Given the description of an element on the screen output the (x, y) to click on. 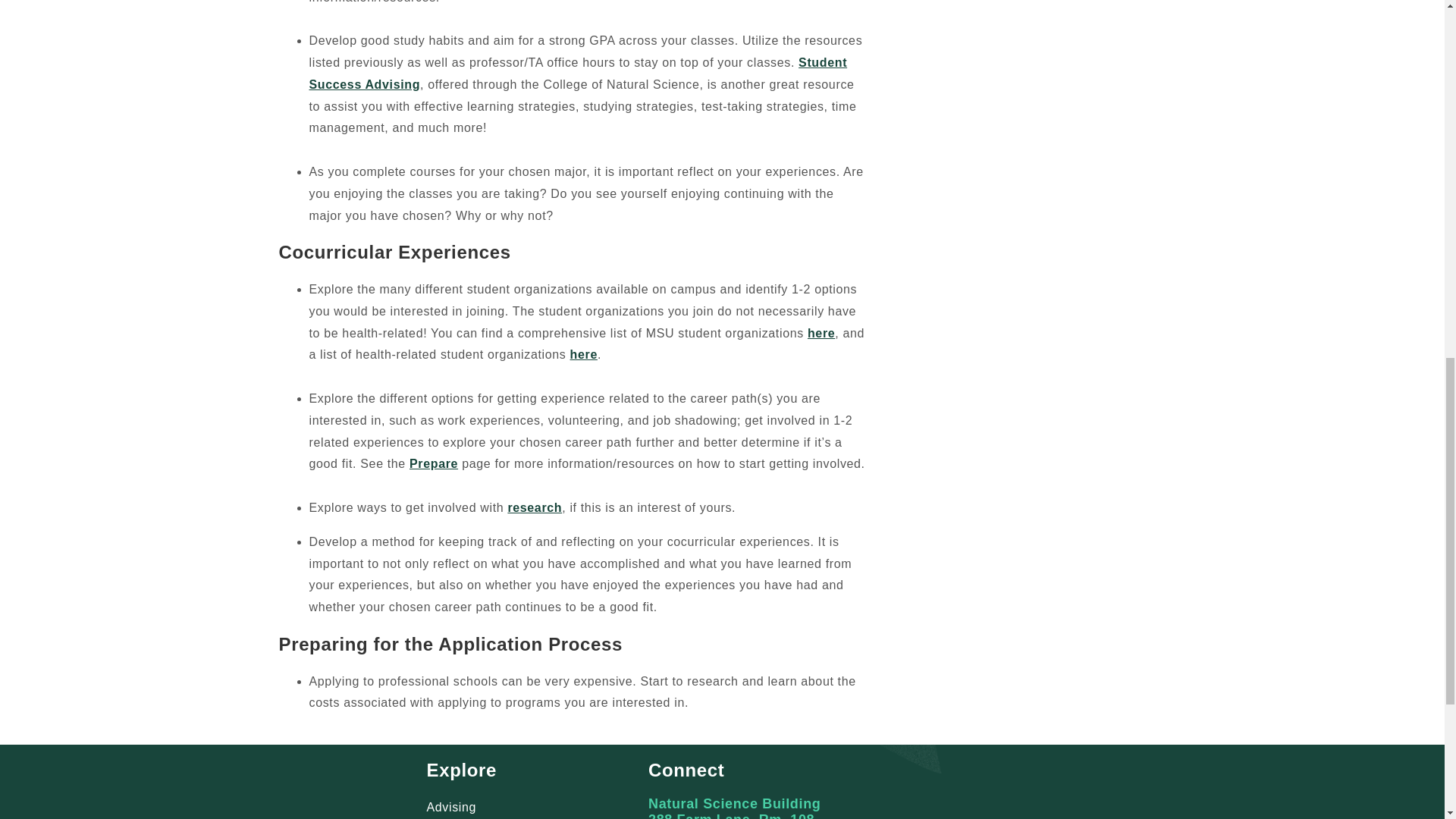
research (534, 507)
Advising (451, 807)
Prepare (433, 463)
here (821, 332)
here (583, 354)
Student Success Advising (577, 73)
